Given the description of an element on the screen output the (x, y) to click on. 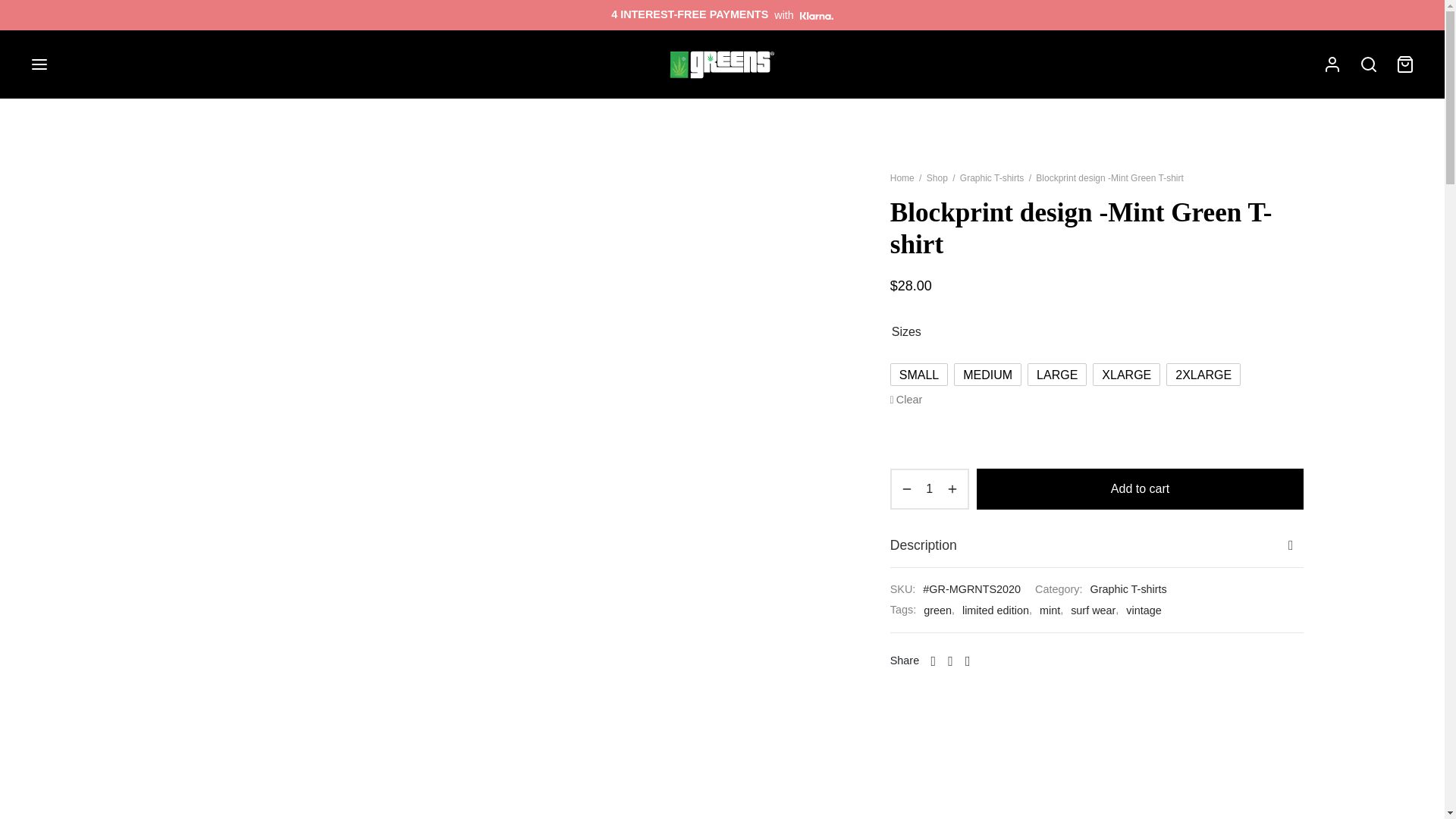
Graphic T-shirts (991, 177)
MEDIUM (987, 374)
surf wear (1092, 609)
Add to cart (1139, 488)
2XLARGE (1203, 374)
Shop (936, 177)
green (937, 609)
Clear (906, 399)
1 (929, 488)
vintage (1142, 609)
